Given the description of an element on the screen output the (x, y) to click on. 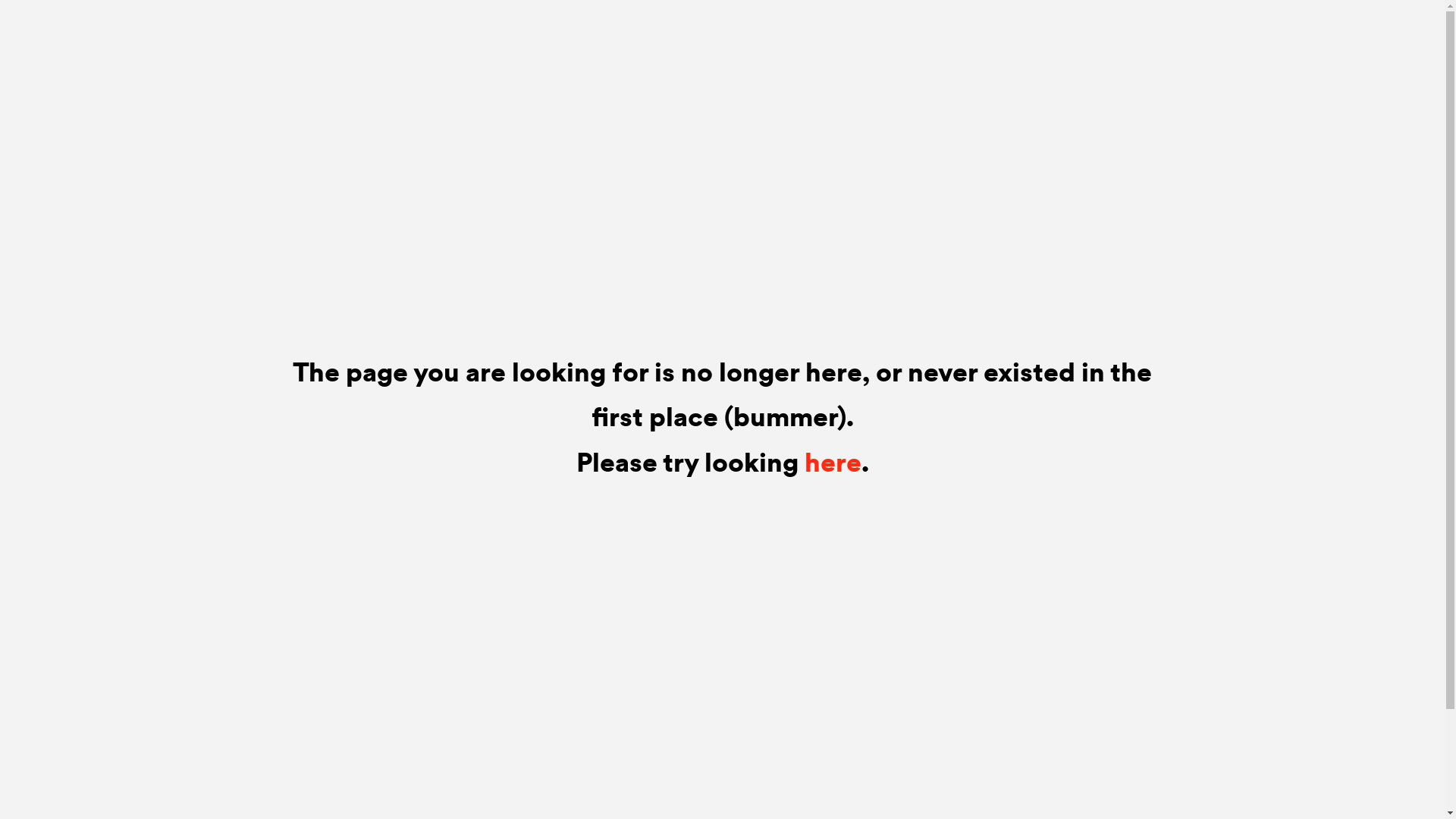
here Element type: text (831, 462)
